Given the description of an element on the screen output the (x, y) to click on. 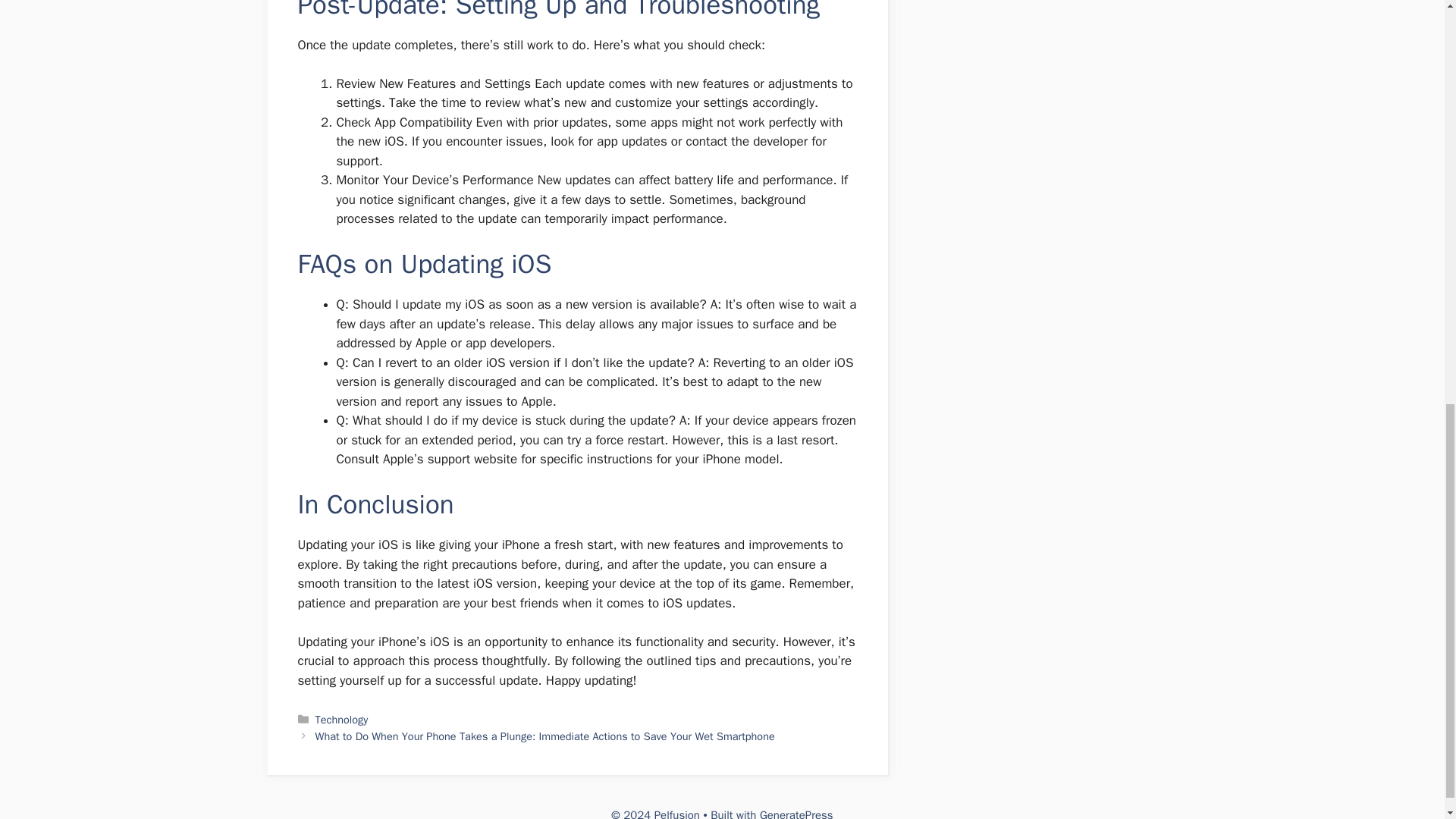
Technology (341, 719)
GeneratePress (796, 813)
